Given the description of an element on the screen output the (x, y) to click on. 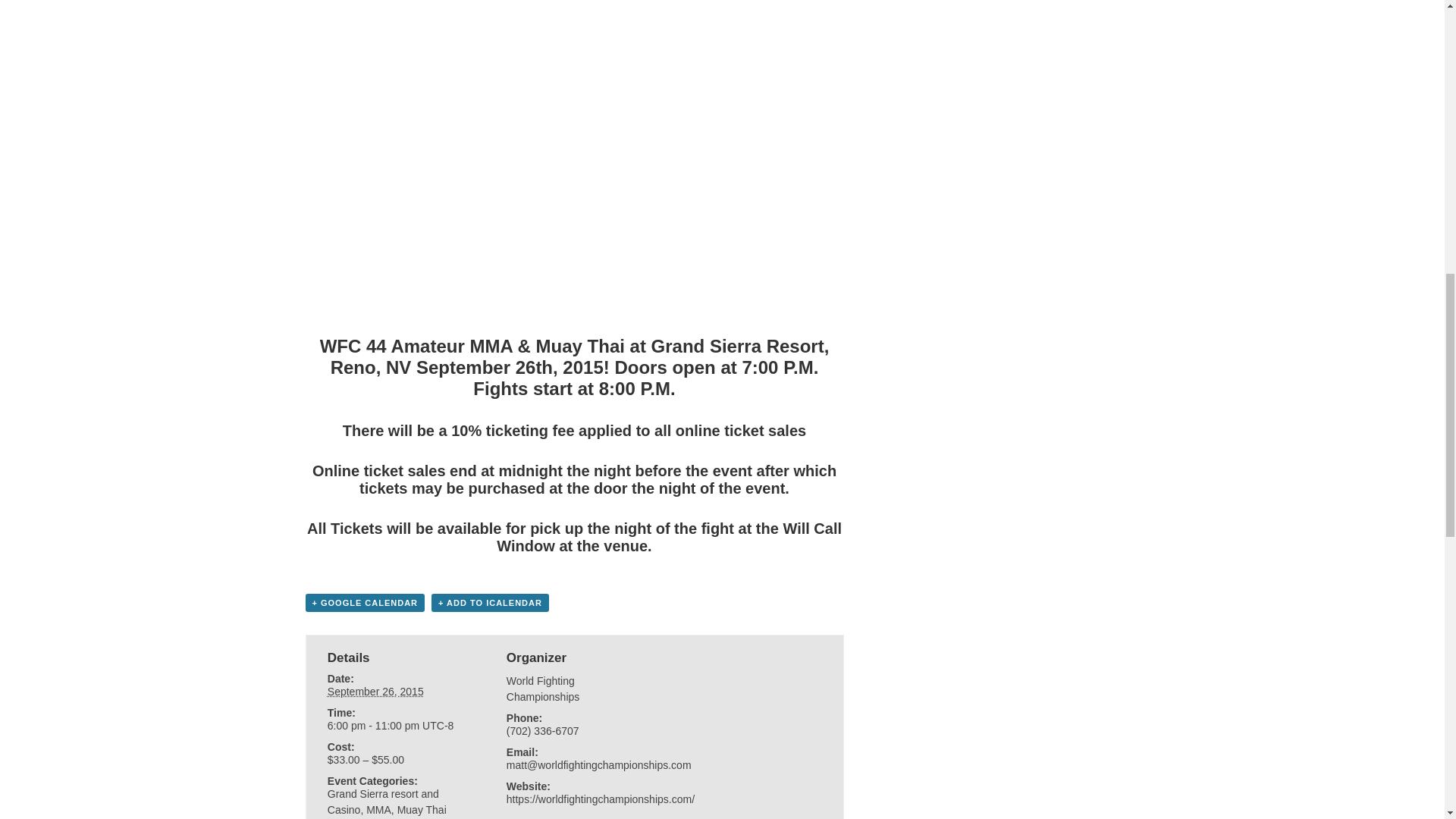
2015-09-26 (395, 725)
Grand Sierra resort and Casino (383, 801)
2015-09-26 (375, 691)
Download .ics file (489, 602)
MMA (378, 809)
Muay Thai (421, 809)
Add to Google Calendar (364, 602)
